Given the description of an element on the screen output the (x, y) to click on. 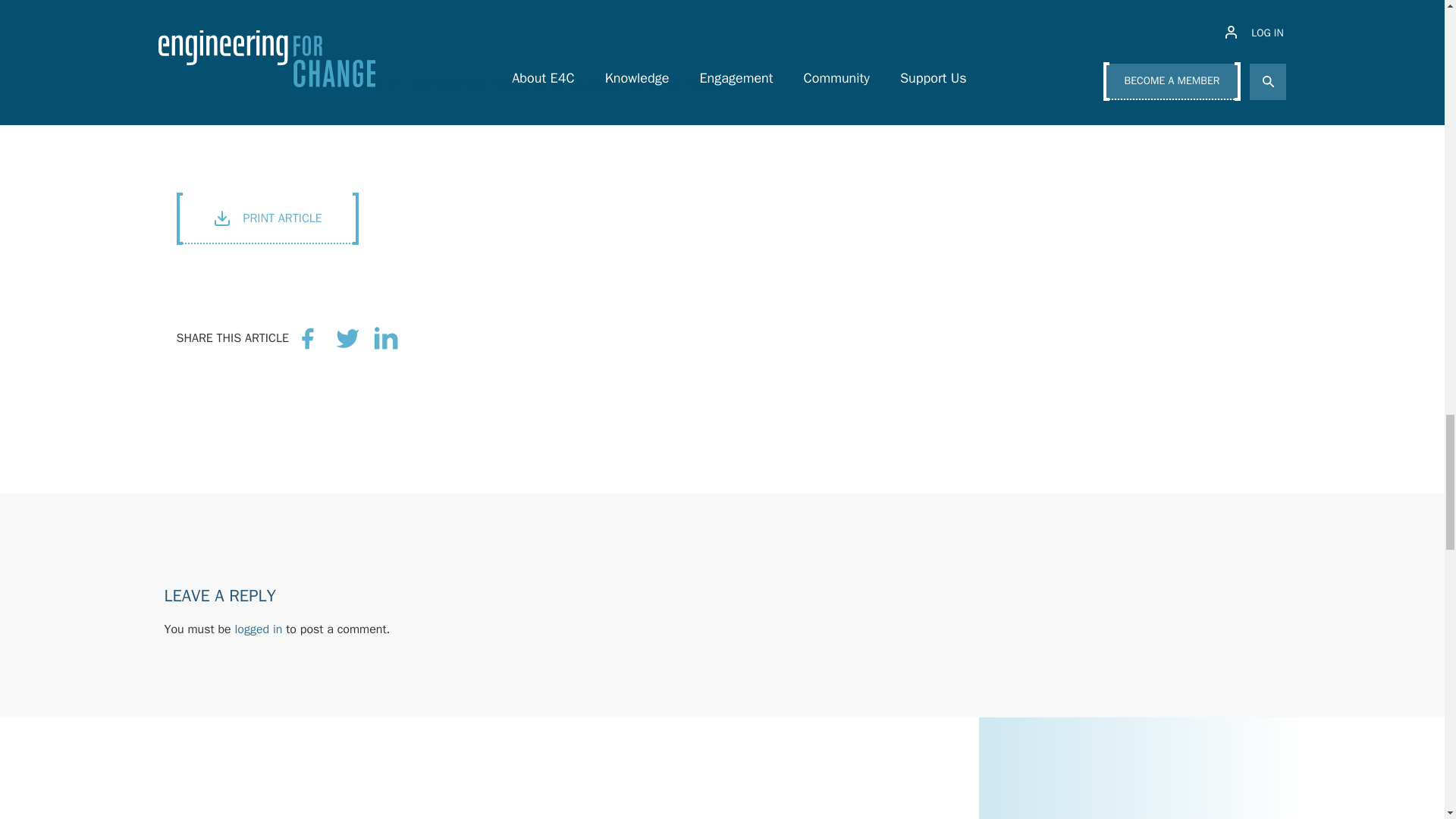
facebook (308, 337)
linkedin (387, 337)
twitter (347, 337)
